Given the description of an element on the screen output the (x, y) to click on. 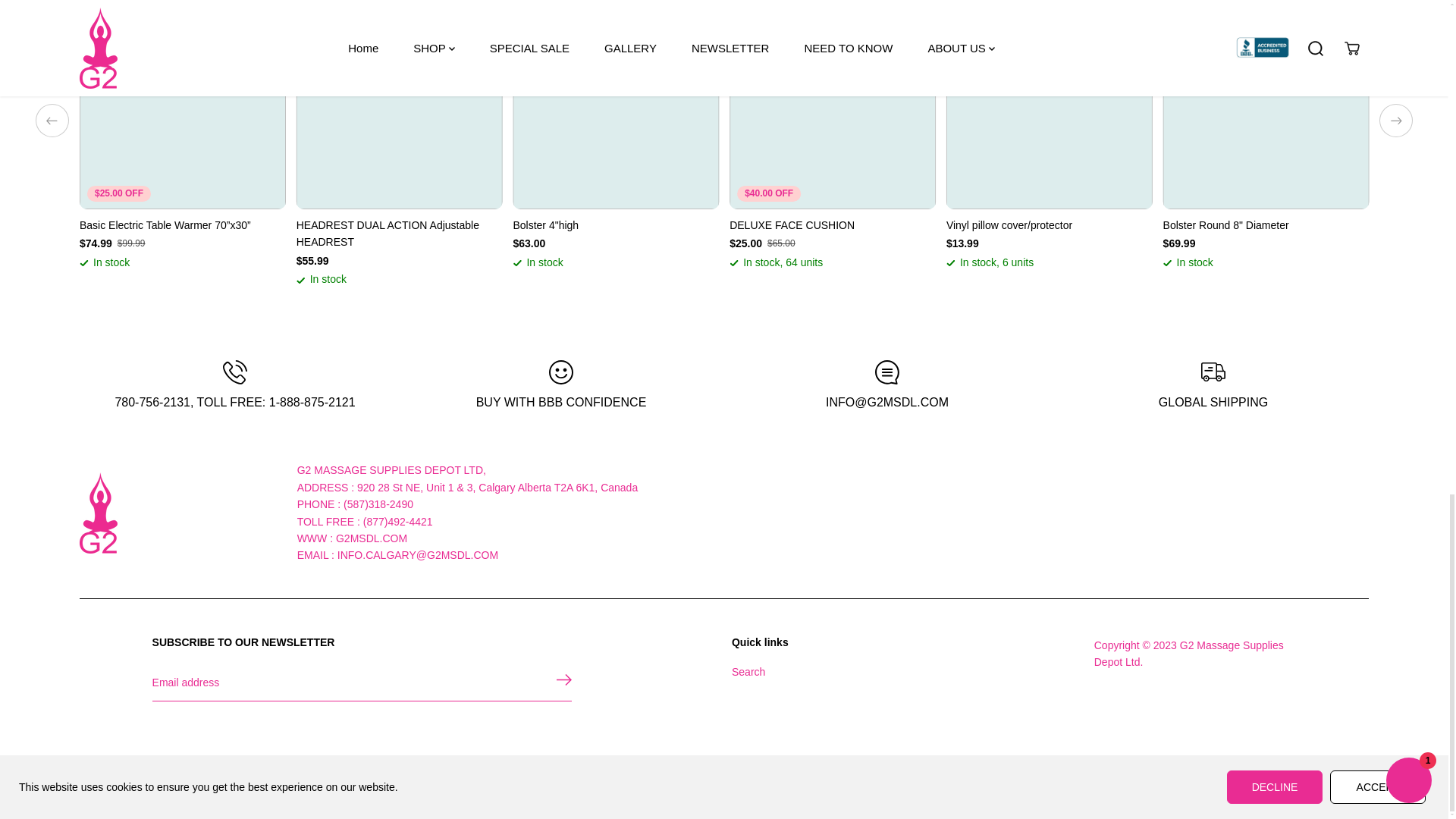
DELUXE FACE CUSHION (832, 225)
HEADREST DUAL ACTION Adjustable HEADREST (399, 233)
Bolster 4 (615, 225)
